Given the description of an element on the screen output the (x, y) to click on. 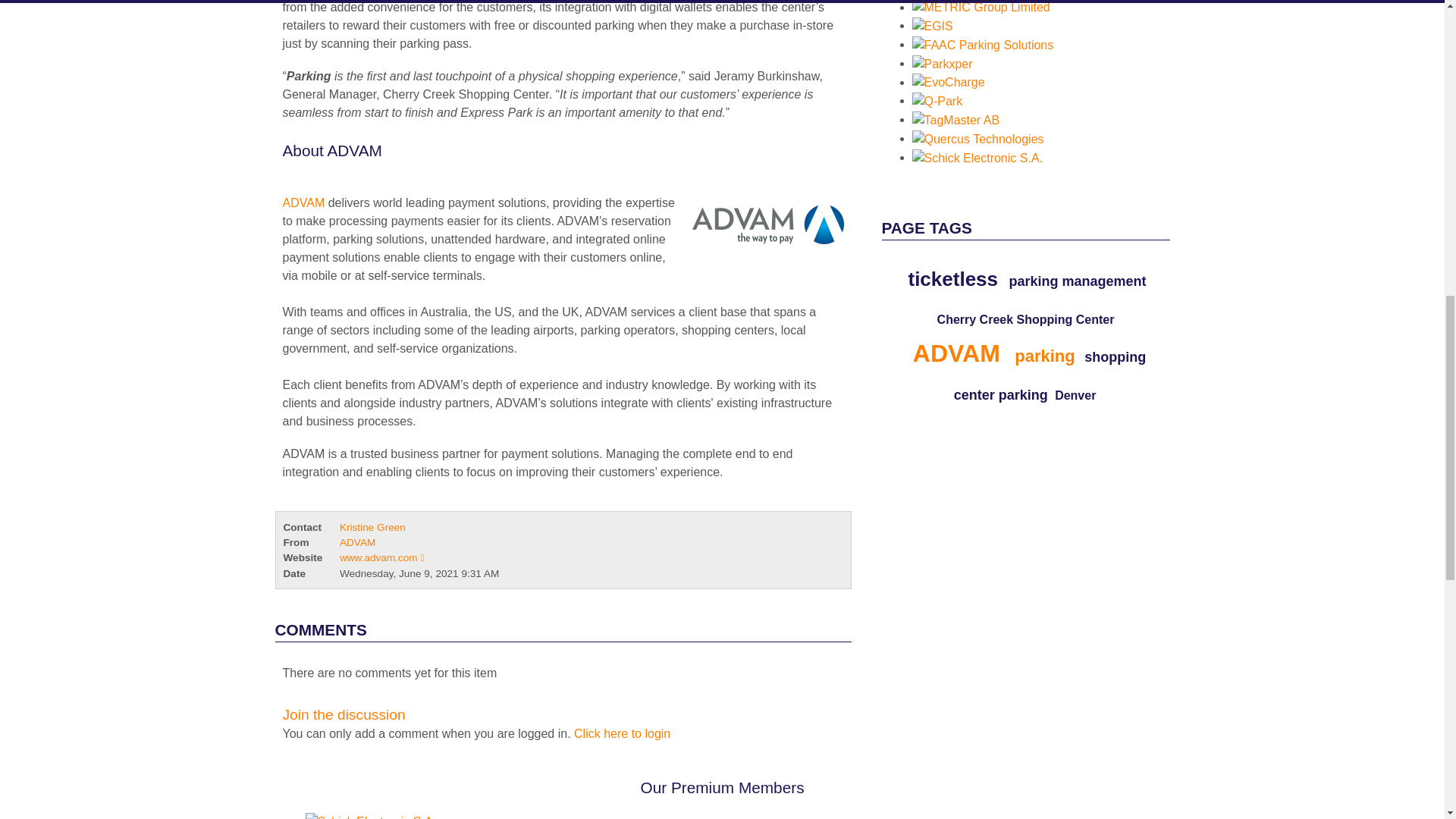
View website of ADVAM (381, 557)
ADVAM (303, 202)
ADVAM (763, 224)
View profile of ADVAM (357, 542)
Click here to login (621, 733)
